Given the description of an element on the screen output the (x, y) to click on. 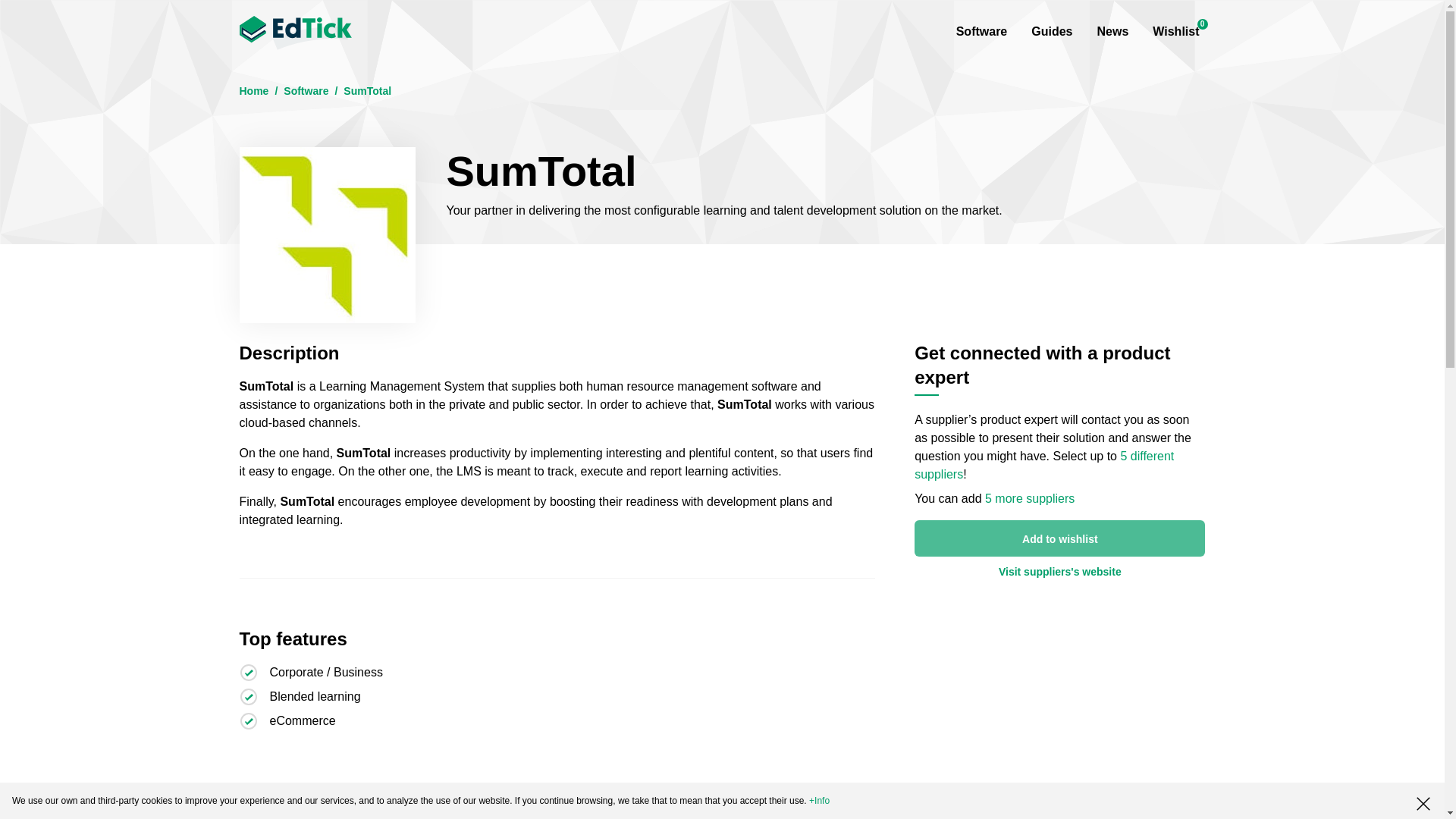
Software (1175, 31)
News (306, 91)
Home (1112, 31)
Guides (254, 91)
EdTick logo. Go to homepage (1050, 31)
Visit suppliers's website (295, 35)
Add to wishlist (1059, 571)
Software (1059, 538)
